Given the description of an element on the screen output the (x, y) to click on. 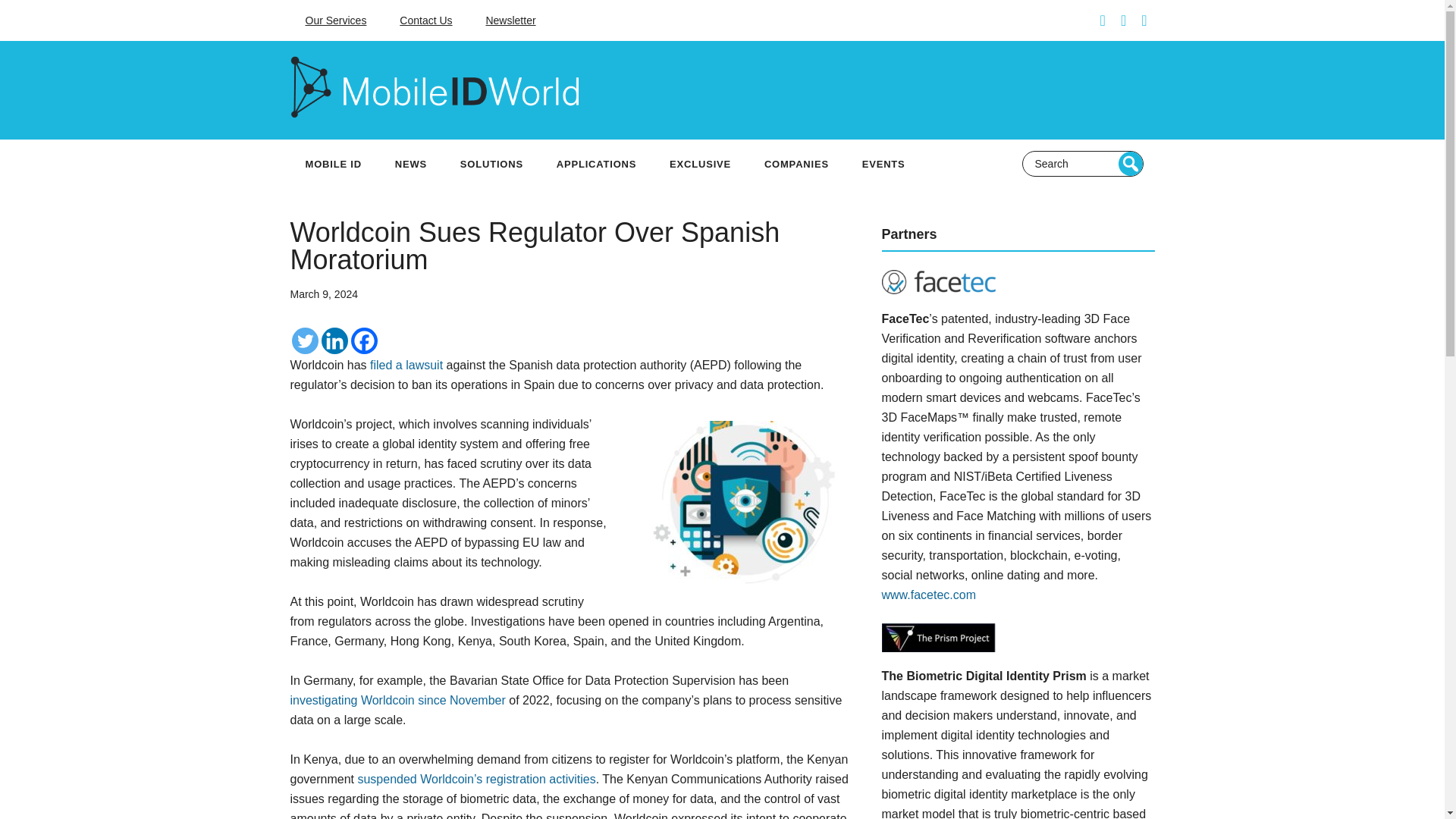
EXCLUSIVE (699, 164)
Contact Us (425, 20)
APPLICATIONS (595, 164)
Twitter (304, 340)
Our Services (335, 20)
Newsletter (510, 20)
Linkedin (334, 340)
Facebook (363, 340)
SOLUTIONS (491, 164)
NEWS (411, 164)
MOBILE ID (332, 164)
